Given the description of an element on the screen output the (x, y) to click on. 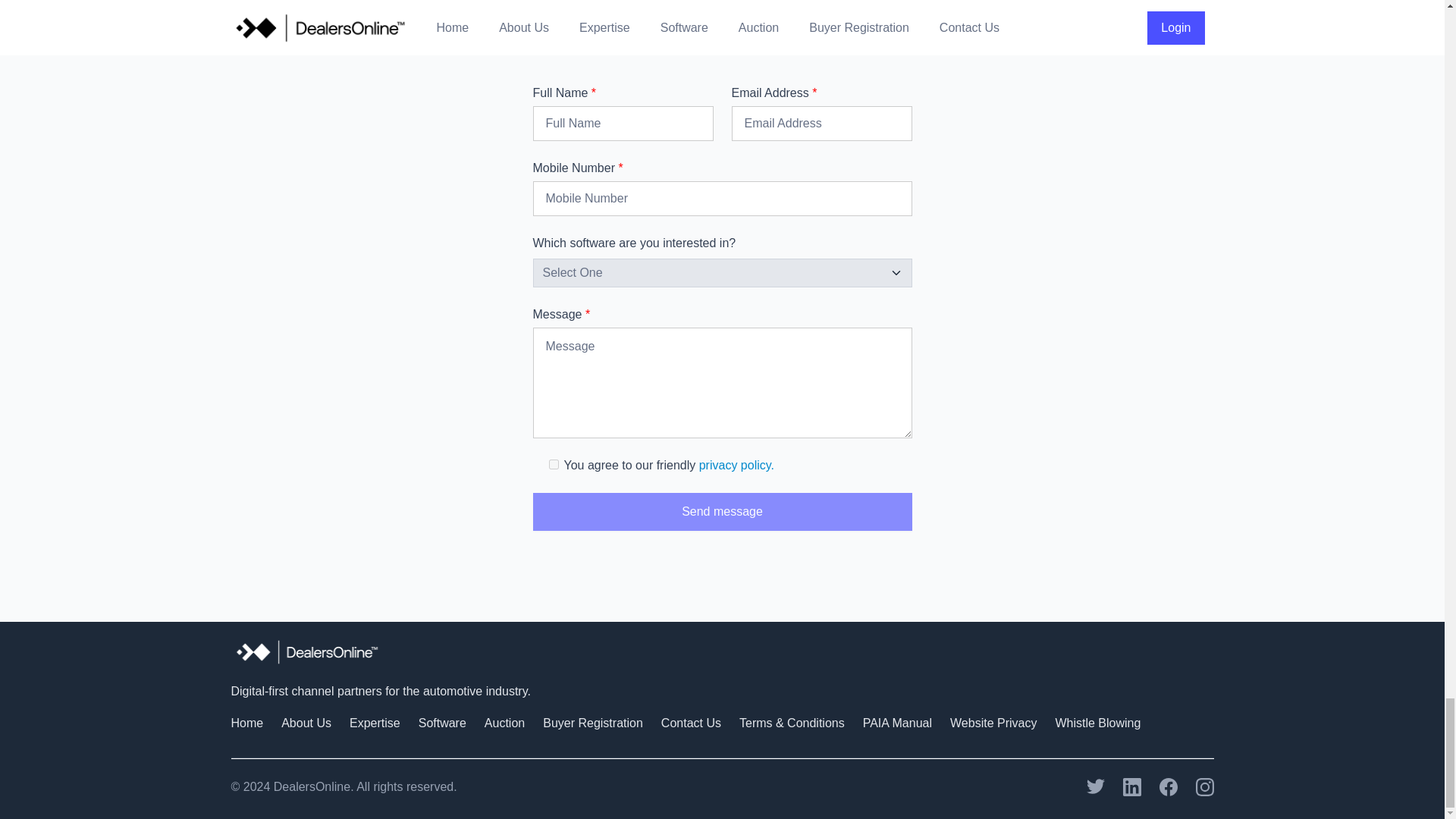
Whistle Blowing (1097, 723)
PAIA Manual (897, 723)
Expertise (374, 723)
Website Privacy (993, 723)
1 (553, 464)
Auction (504, 723)
Home (246, 723)
Contact Us (690, 723)
Software (442, 723)
Buyer Registration (593, 723)
Send message (721, 511)
About Us (306, 723)
privacy policy. (736, 464)
